Given the description of an element on the screen output the (x, y) to click on. 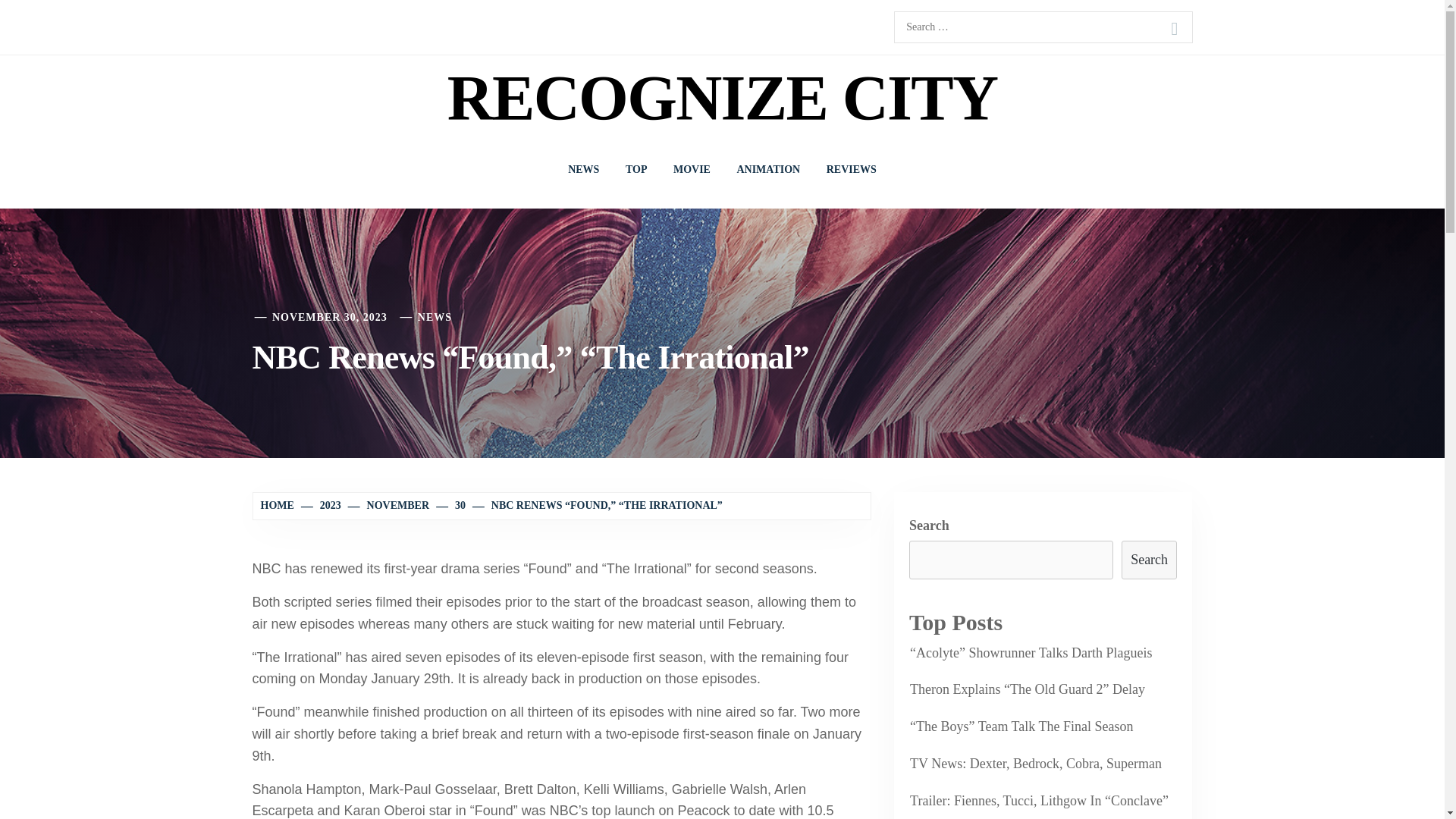
NEWS (434, 317)
MOVIE (692, 169)
Search (1174, 28)
NEWS (583, 169)
HOME (279, 505)
ANIMATION (767, 169)
2023 (322, 505)
NOVEMBER (389, 505)
30 (451, 505)
NOVEMBER 30, 2023 (329, 317)
TOP (636, 169)
RECOGNIZE CITY (721, 98)
TV News: Dexter, Bedrock, Cobra, Superman (1033, 763)
Search (1174, 28)
REVIEWS (851, 169)
